Given the description of an element on the screen output the (x, y) to click on. 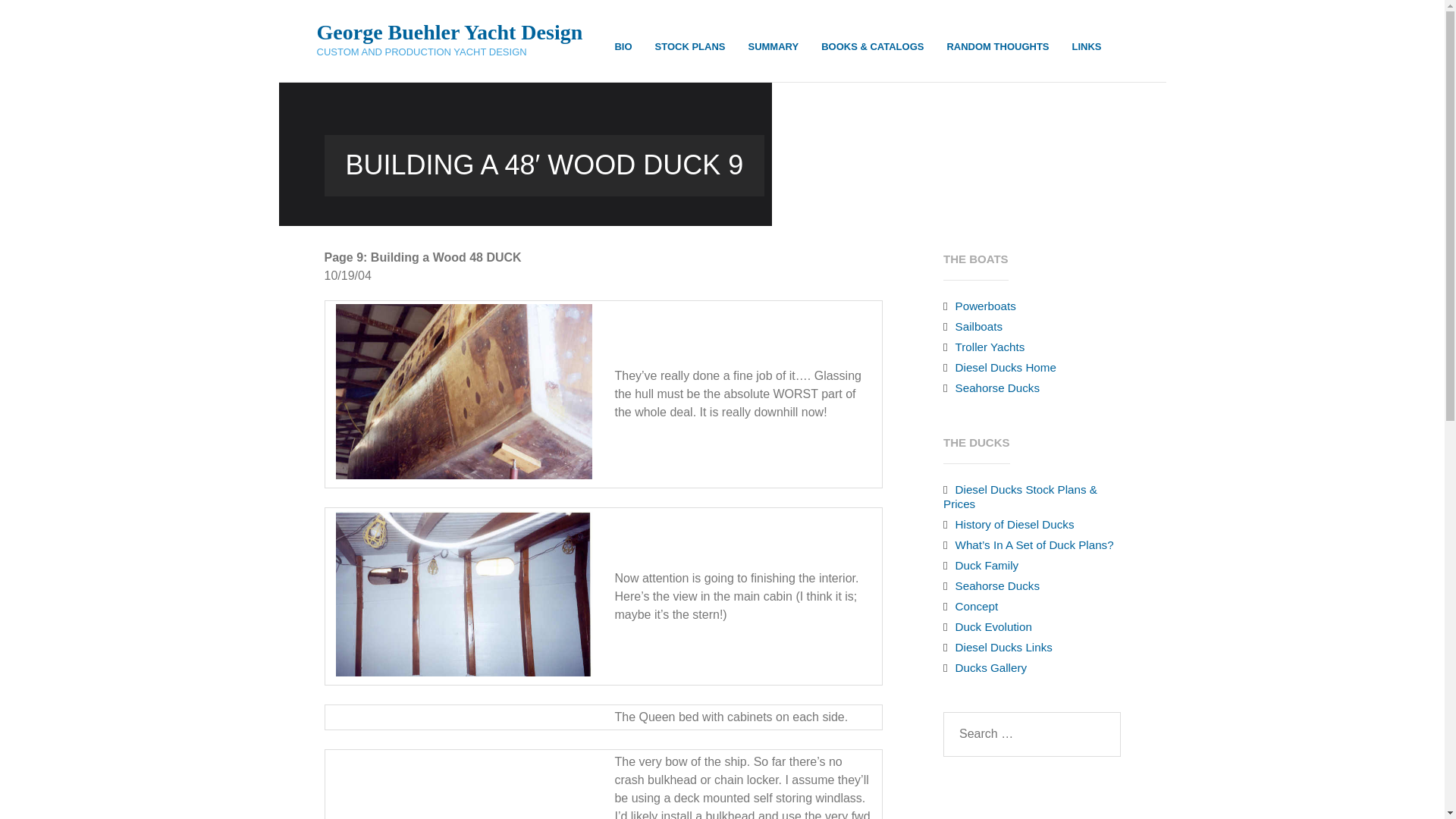
Custom and Production Yacht Design (450, 51)
STOCK PLANS (689, 46)
SUMMARY (772, 46)
RANDOM THOUGHTS (996, 46)
George Buehler Yacht Design (450, 31)
